Given the description of an element on the screen output the (x, y) to click on. 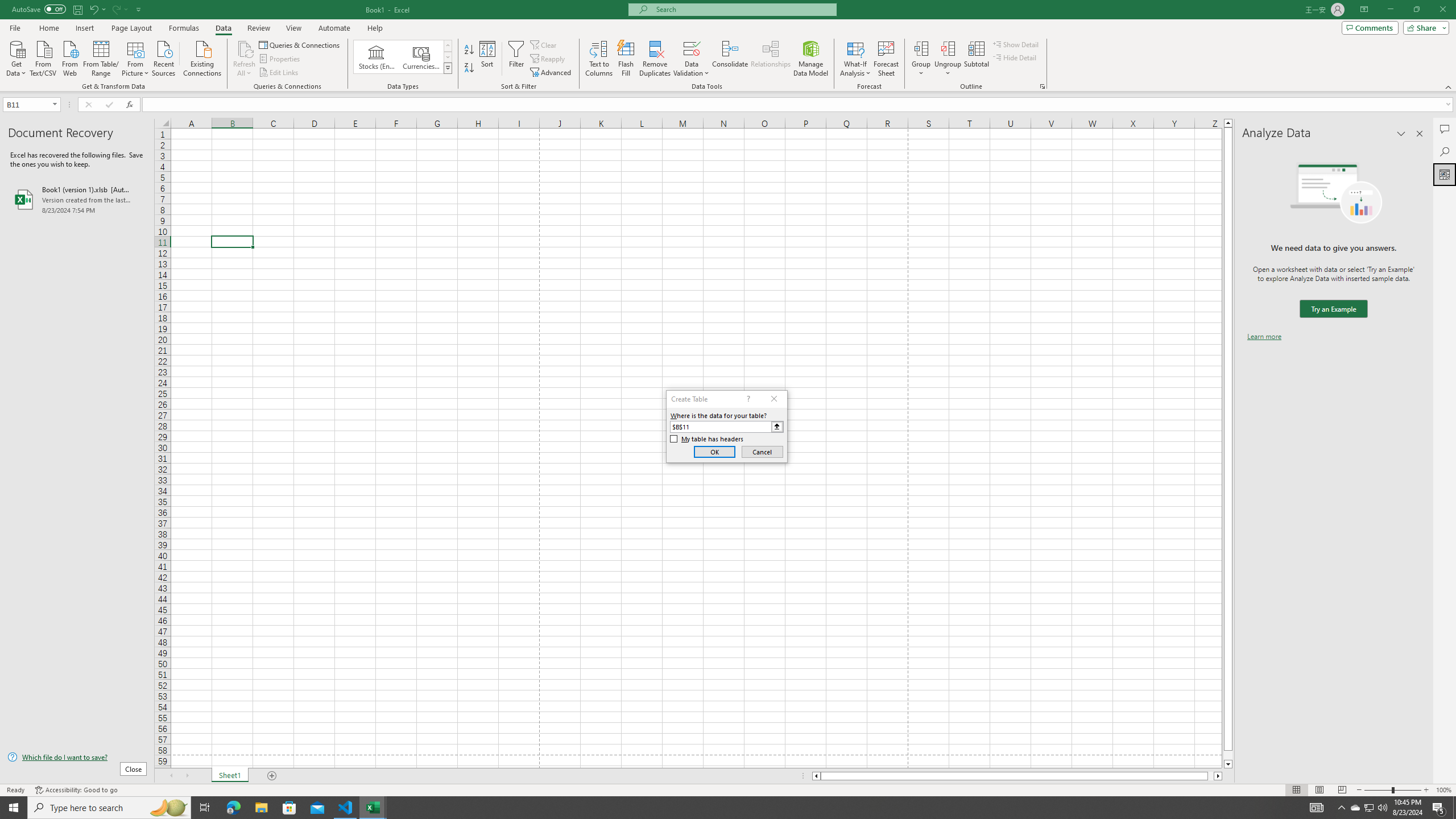
Relationships (770, 58)
Edit Links (279, 72)
From Web (69, 57)
Reapply (548, 58)
Remove Duplicates (654, 58)
